Given the description of an element on the screen output the (x, y) to click on. 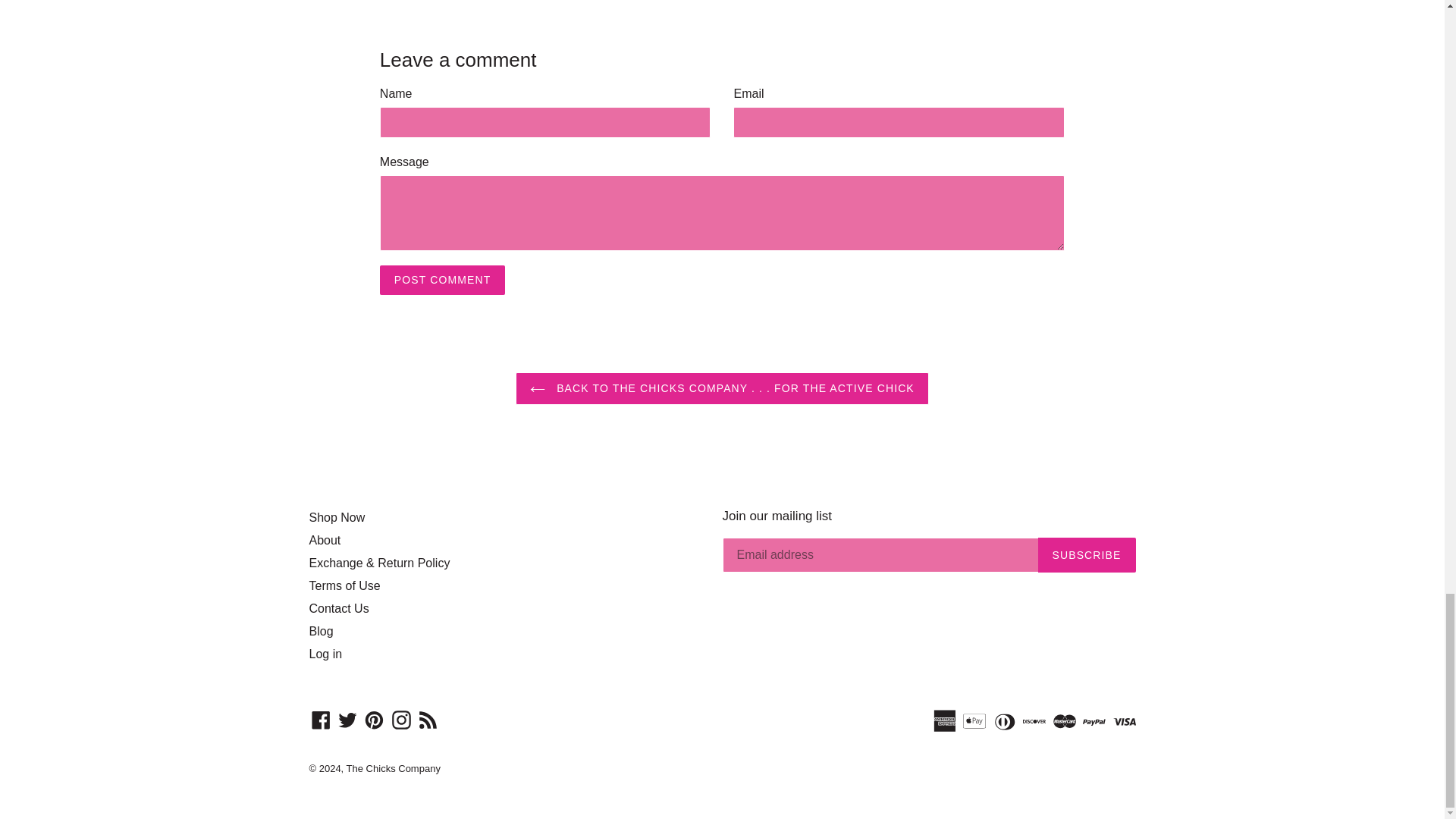
Post comment (442, 279)
About (324, 540)
Terms of Use (344, 585)
Log in (507, 654)
Shop Now (336, 517)
Blog (320, 631)
The Chicks Company on Pinterest (373, 719)
BACK TO THE CHICKS COMPANY . . . FOR THE ACTIVE CHICK (721, 388)
The Chicks Company on Twitter (347, 719)
Contact Us (338, 608)
The Chicks Company on Instagram (401, 719)
The Chicks Company on Facebook (320, 719)
Post comment (442, 279)
